Given the description of an element on the screen output the (x, y) to click on. 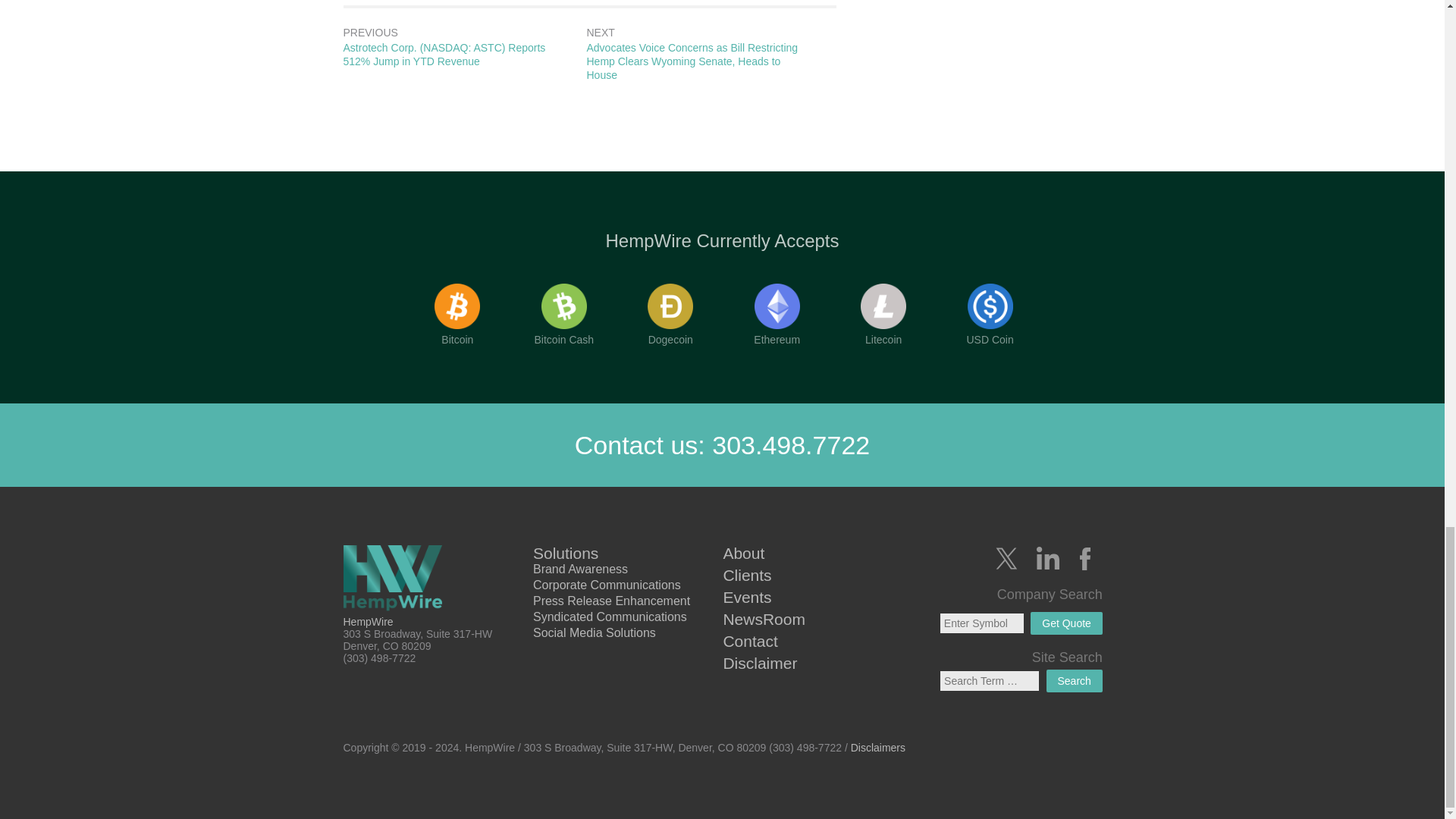
HempWire (399, 579)
